Given the description of an element on the screen output the (x, y) to click on. 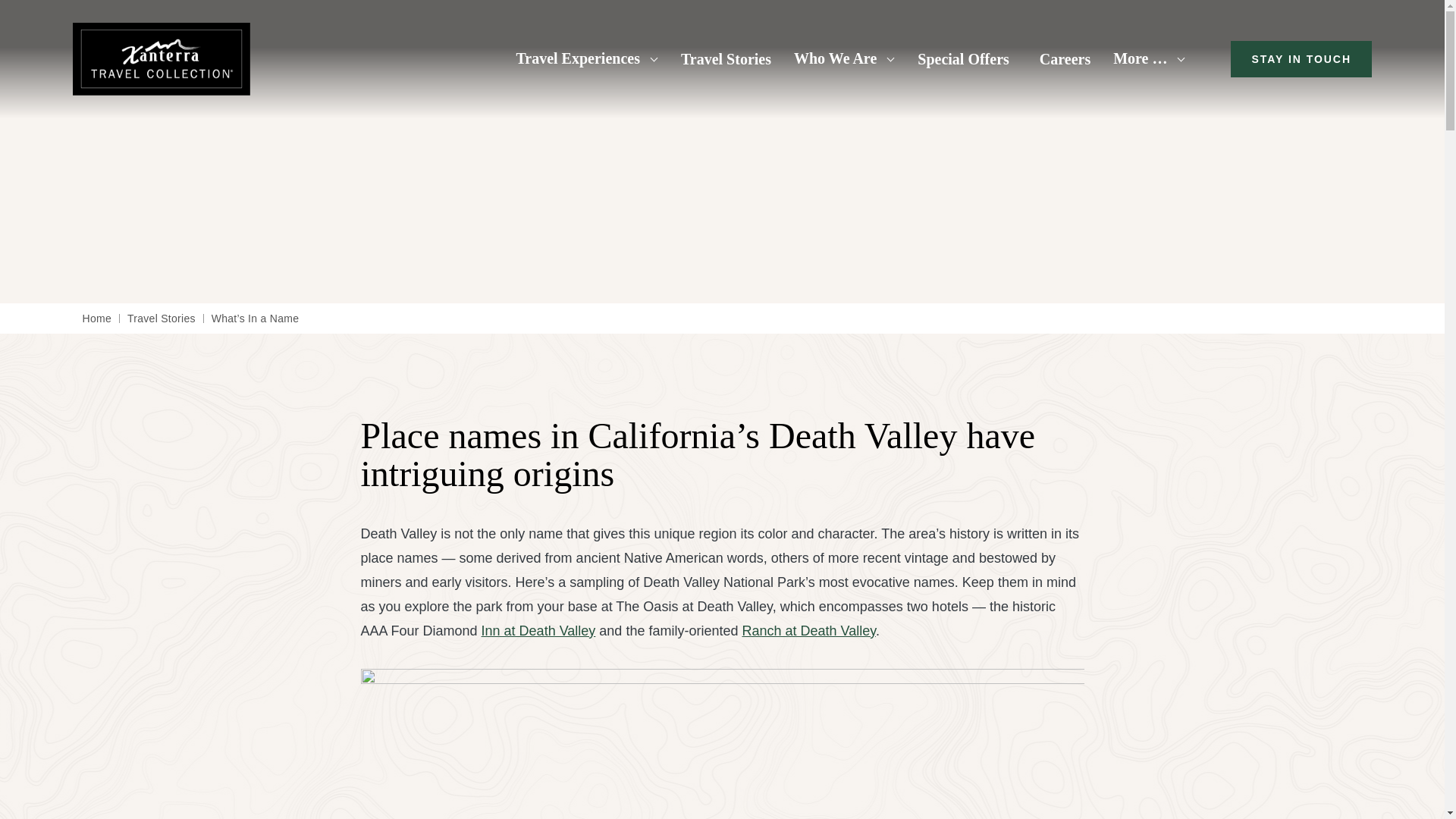
Who We Are (844, 58)
Careers (1064, 58)
Special Offers (963, 58)
Go to Travel Stories. (161, 318)
Travel Stories (725, 58)
Travel Stories (725, 58)
Special Offers (963, 58)
Stay In Touch (1300, 58)
Xanterra Home (161, 58)
Travel Experiences (586, 58)
